Given the description of an element on the screen output the (x, y) to click on. 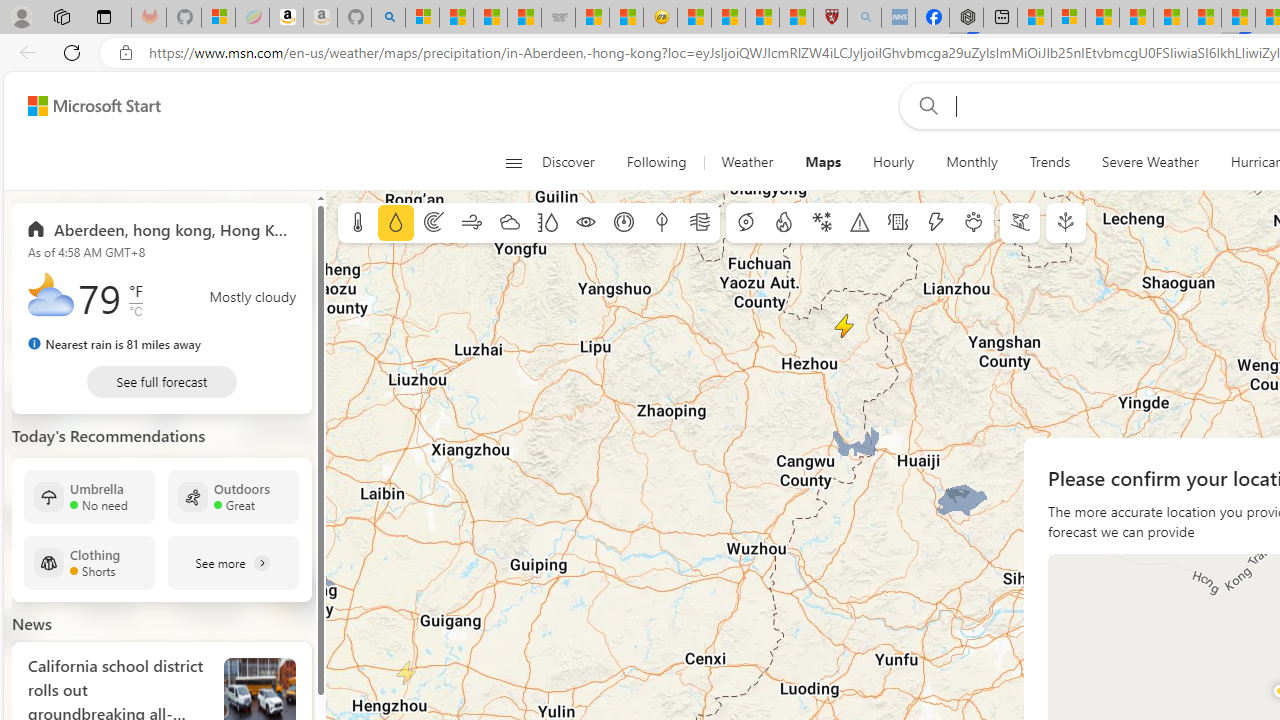
See more (233, 562)
Maps (822, 162)
Outdoors Great (233, 497)
Wind (472, 223)
Discover (575, 162)
Class: button-glyph (513, 162)
Ski conditions (1020, 223)
Weather (747, 162)
Open navigation menu (513, 162)
Pollen (974, 223)
Umbrella No need (89, 497)
